Given the description of an element on the screen output the (x, y) to click on. 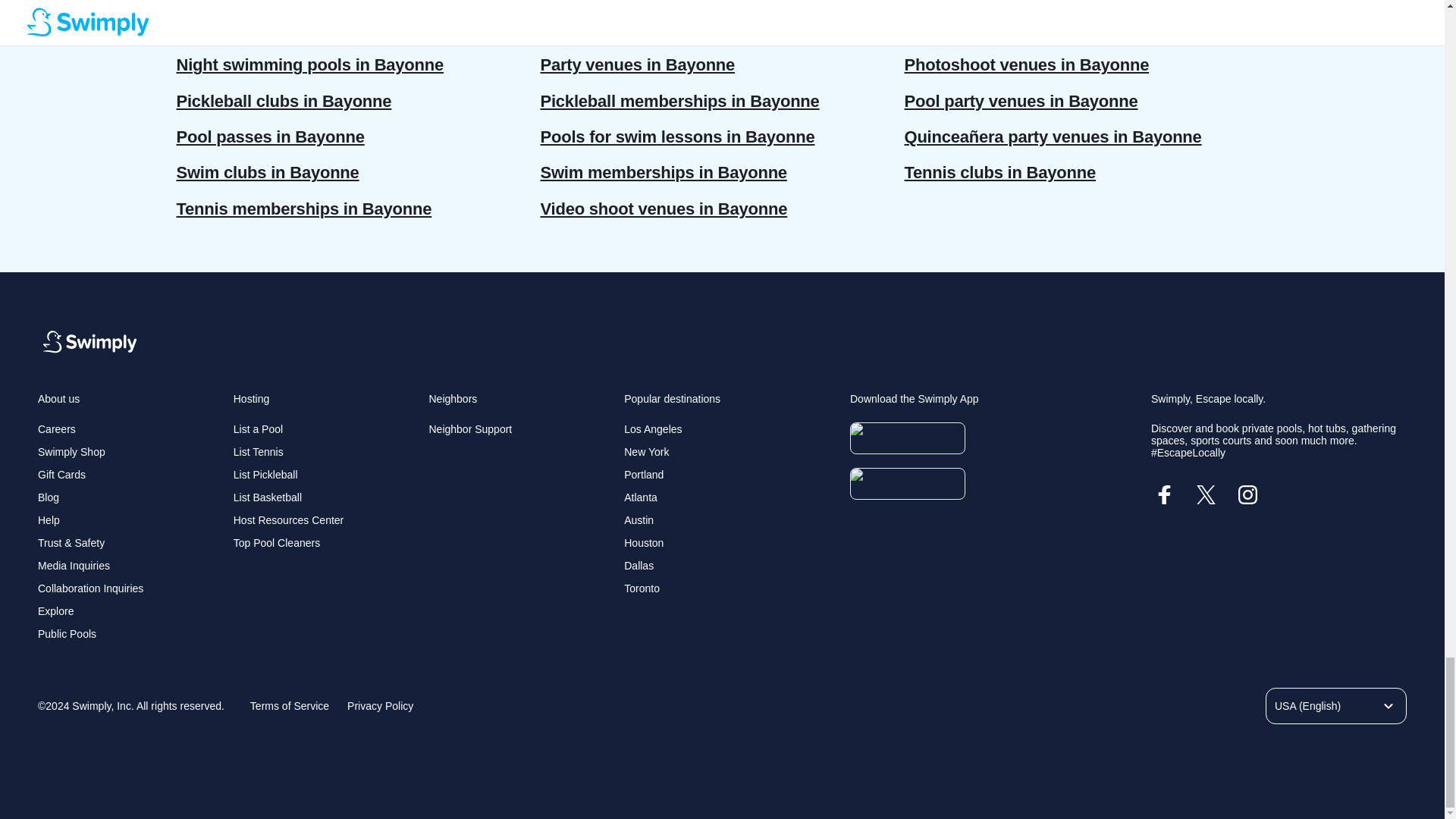
Public Pools (66, 633)
Help (48, 520)
Los Angeles (652, 428)
Gift Cards (61, 474)
Neighbor Support (470, 428)
Media Inquiries (73, 565)
Explore (55, 611)
Host Resources Center (287, 520)
List Basketball (266, 497)
List a Pool (257, 428)
Blog (48, 497)
Portland (643, 474)
New York (646, 451)
List Tennis (257, 451)
Top Pool Cleaners (276, 542)
